Given the description of an element on the screen output the (x, y) to click on. 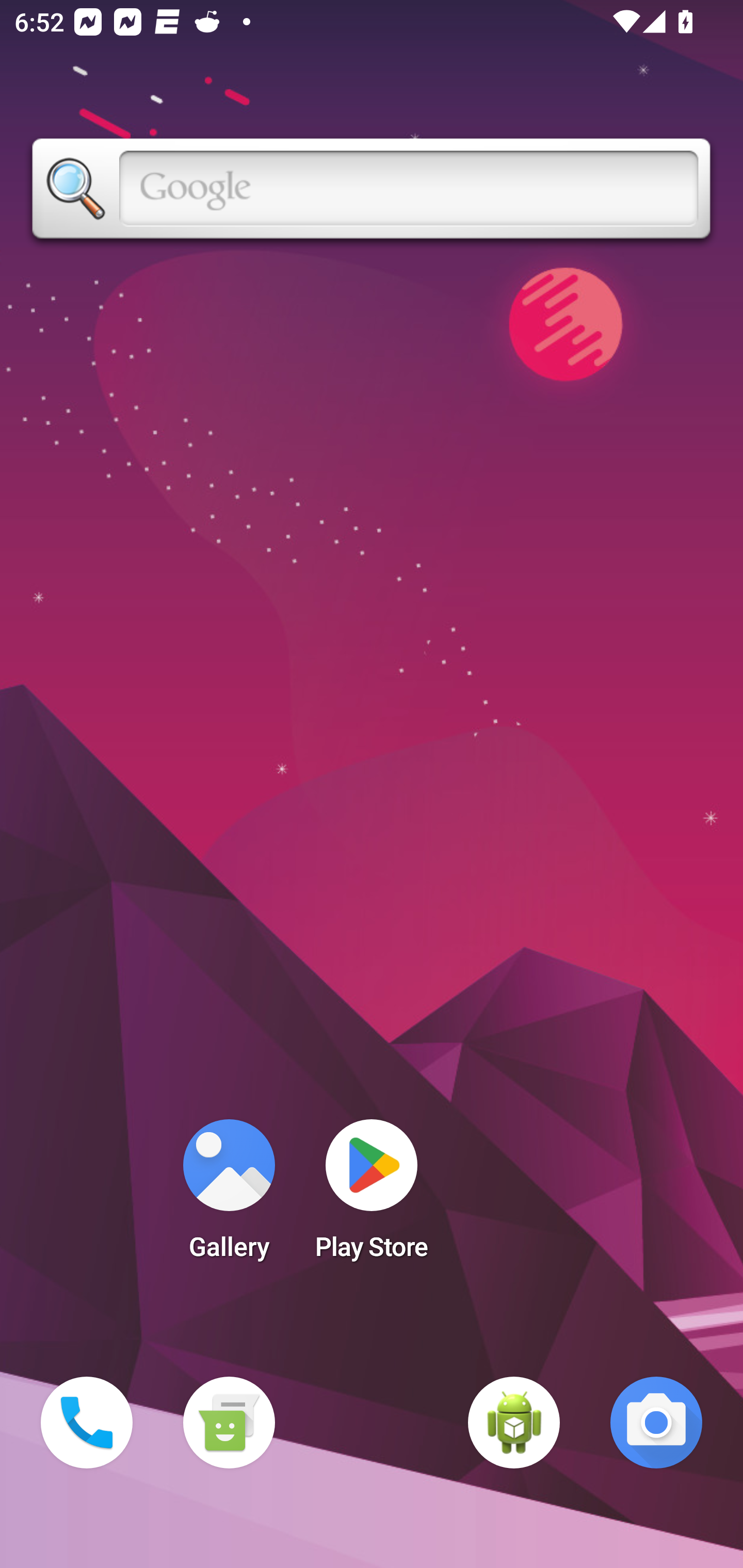
Gallery (228, 1195)
Play Store (371, 1195)
Phone (86, 1422)
Messaging (228, 1422)
WebView Browser Tester (513, 1422)
Camera (656, 1422)
